Given the description of an element on the screen output the (x, y) to click on. 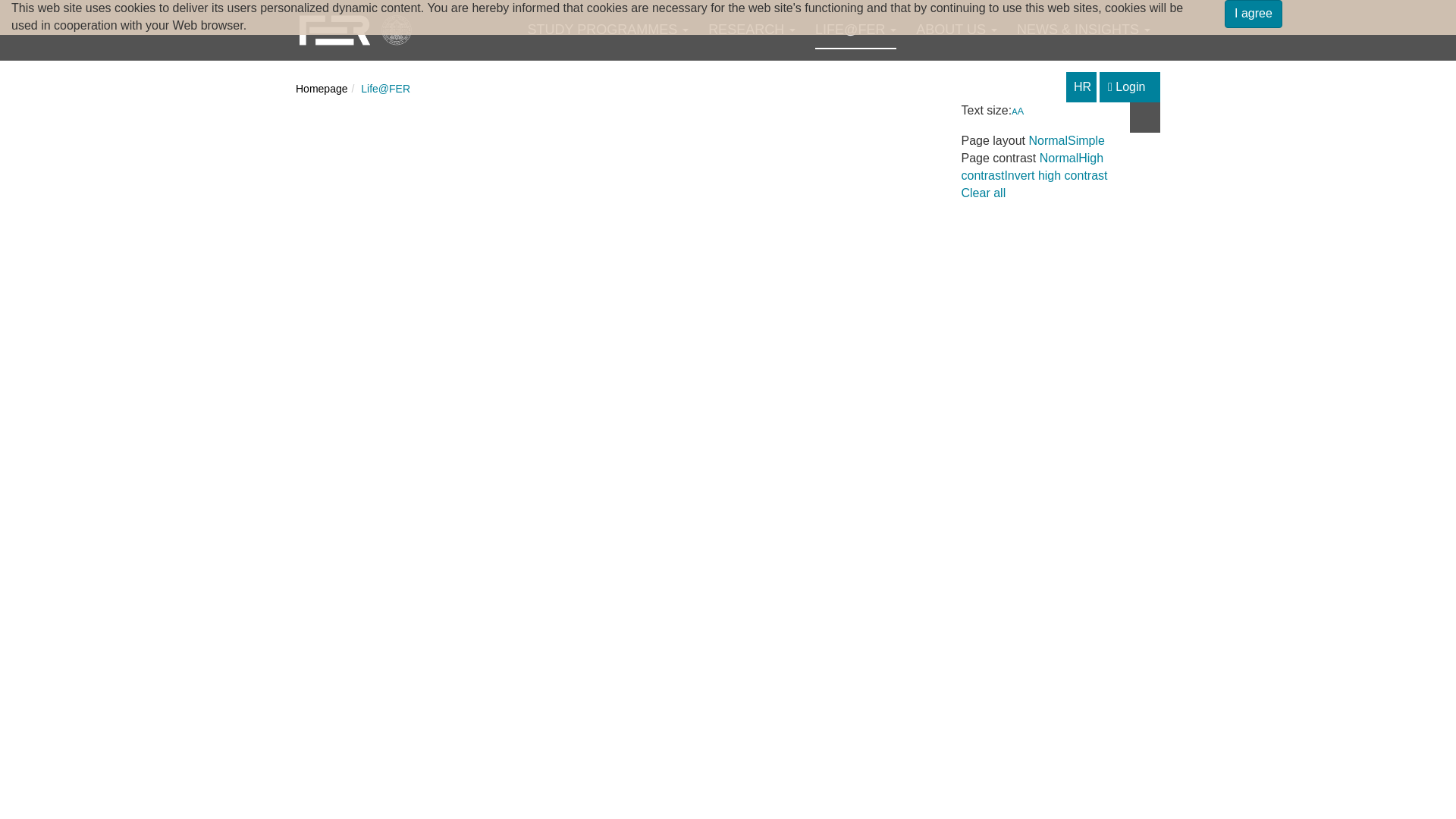
STUDY PROGRAMMES (607, 30)
RESEARCH (750, 30)
I agree (1253, 13)
